Given the description of an element on the screen output the (x, y) to click on. 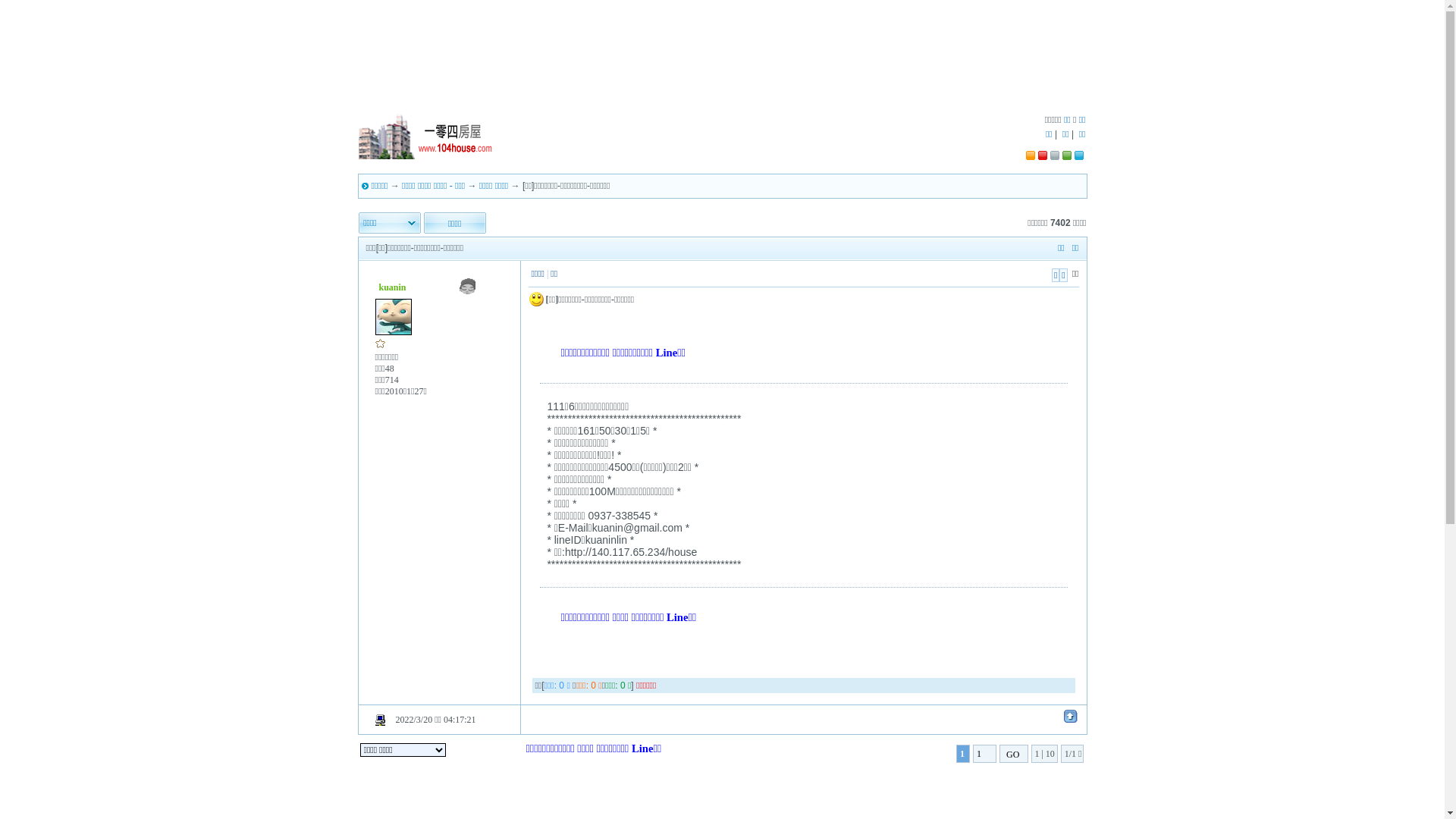
Advertisement Element type: hover (721, 64)
GO Element type: text (1012, 754)
